Given the description of an element on the screen output the (x, y) to click on. 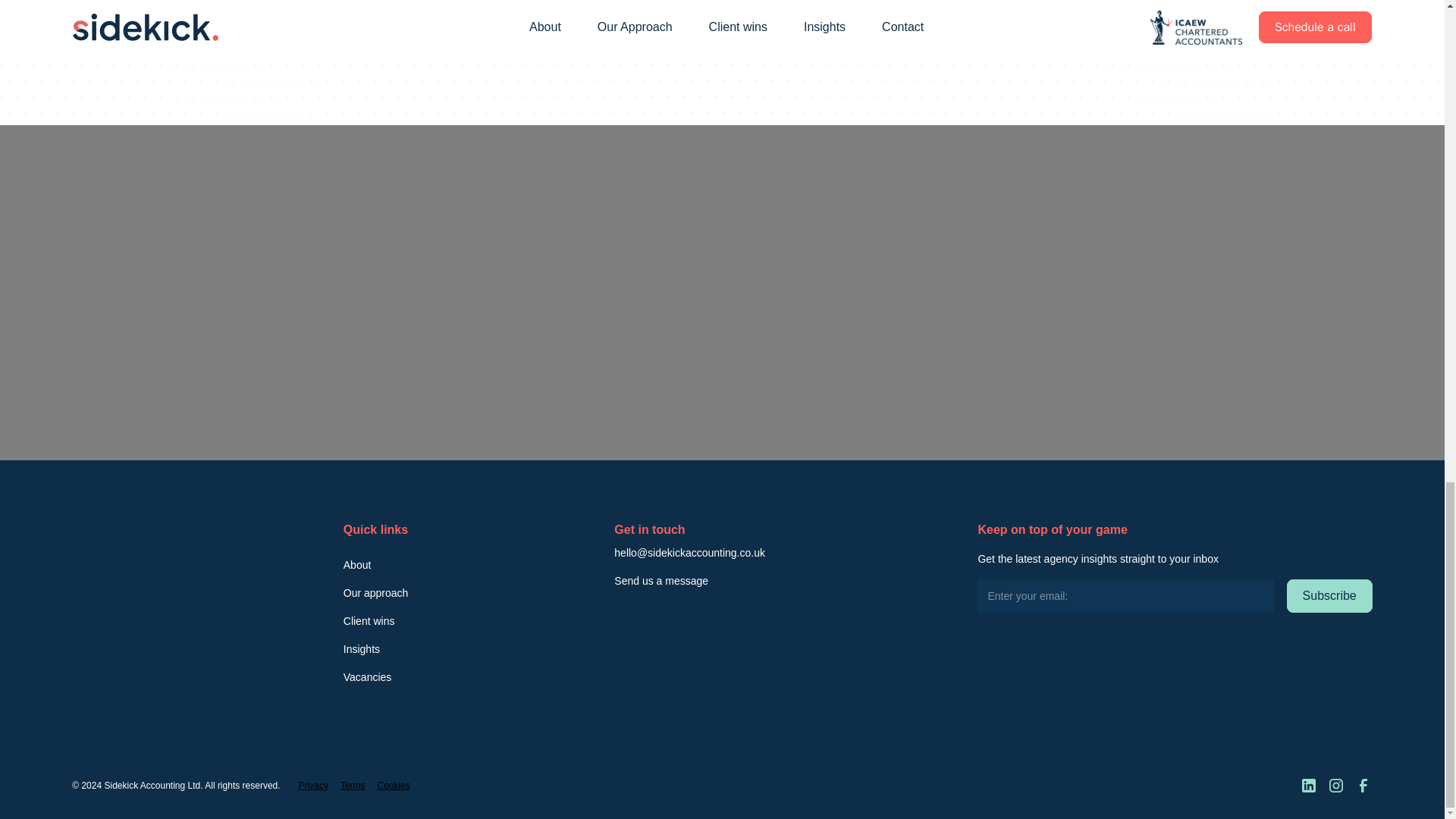
Send us a message (660, 581)
Cookies (393, 785)
Insights (361, 649)
About (357, 565)
Terms (352, 785)
Subscribe (1330, 595)
Client wins (368, 621)
Vacancies (367, 677)
Subscribe (1330, 595)
Our approach (376, 593)
Privacy (313, 785)
